Given the description of an element on the screen output the (x, y) to click on. 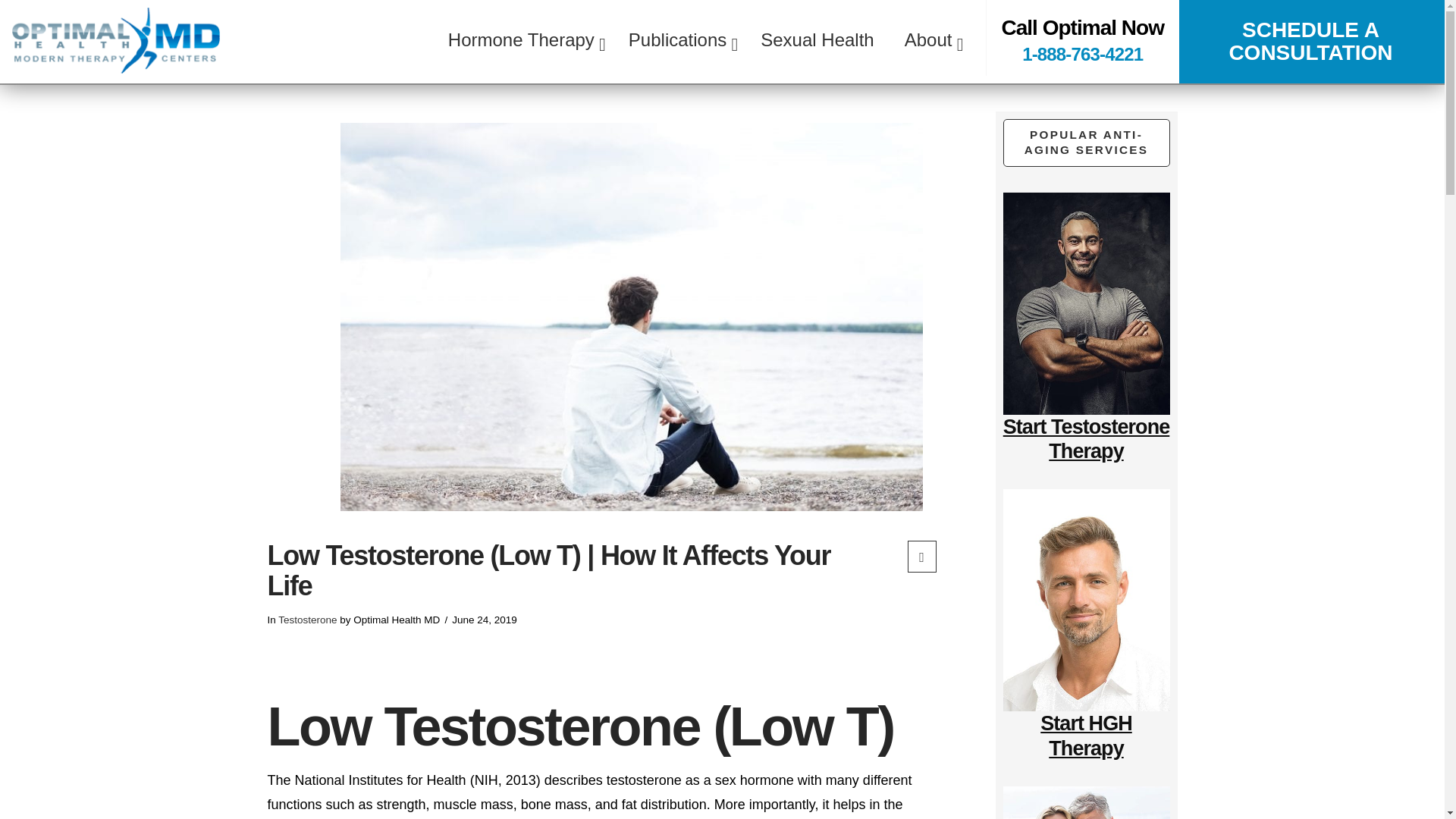
Hormone Therapy (522, 39)
Sexual Health (816, 39)
Publications (678, 39)
About (930, 39)
